Given the description of an element on the screen output the (x, y) to click on. 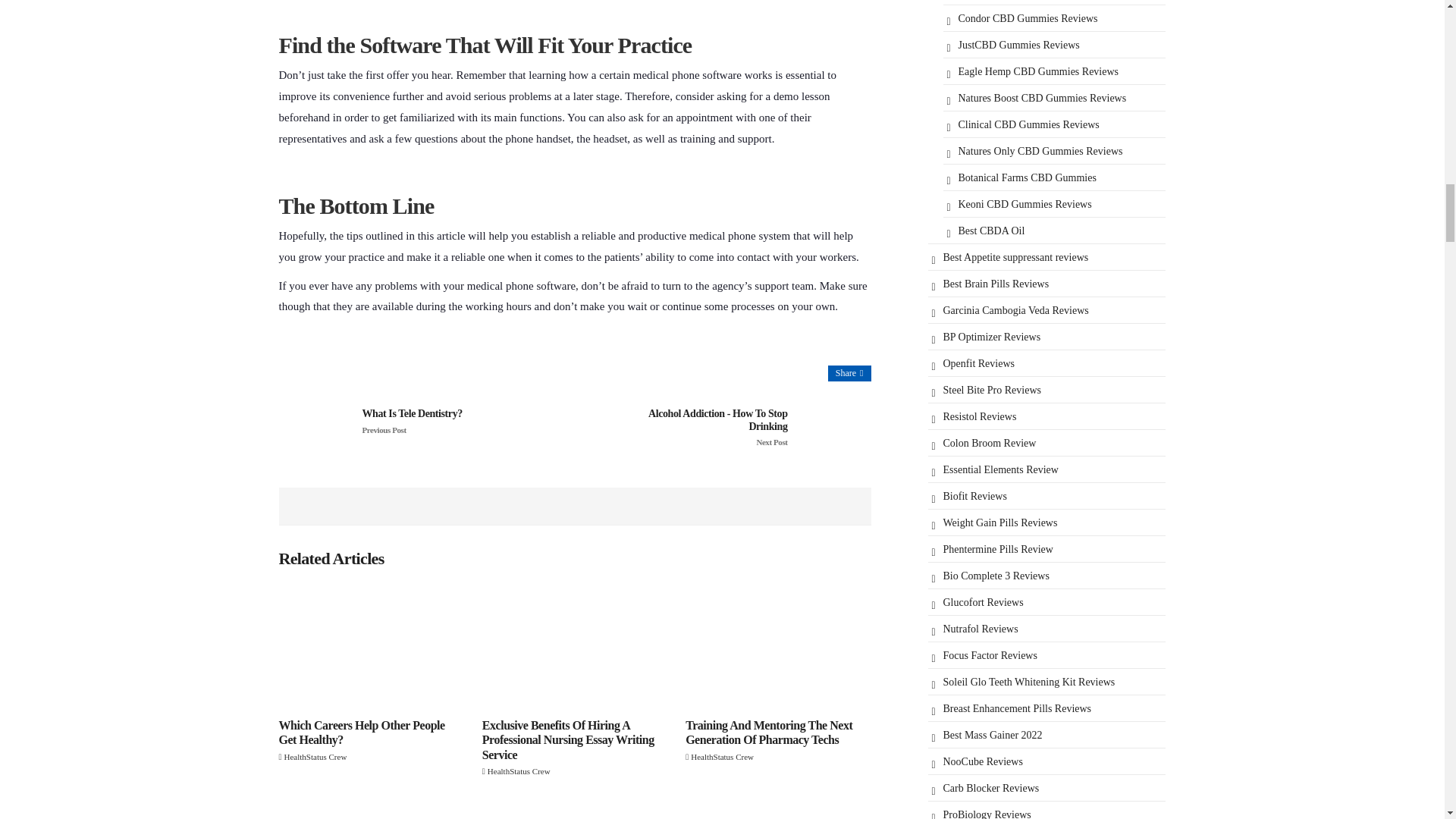
6 Tips To Be An Effective Health Coach (777, 810)
Which Careers Help Other People Get Healthy? (371, 645)
8 Nursing Careers With A Good Work-Life Balance (573, 810)
Training And Mentoring The Next Generation Of Pharmacy Techs (777, 645)
4 Keys To Succeed With Your Cosmetic Brand (371, 810)
